Given the description of an element on the screen output the (x, y) to click on. 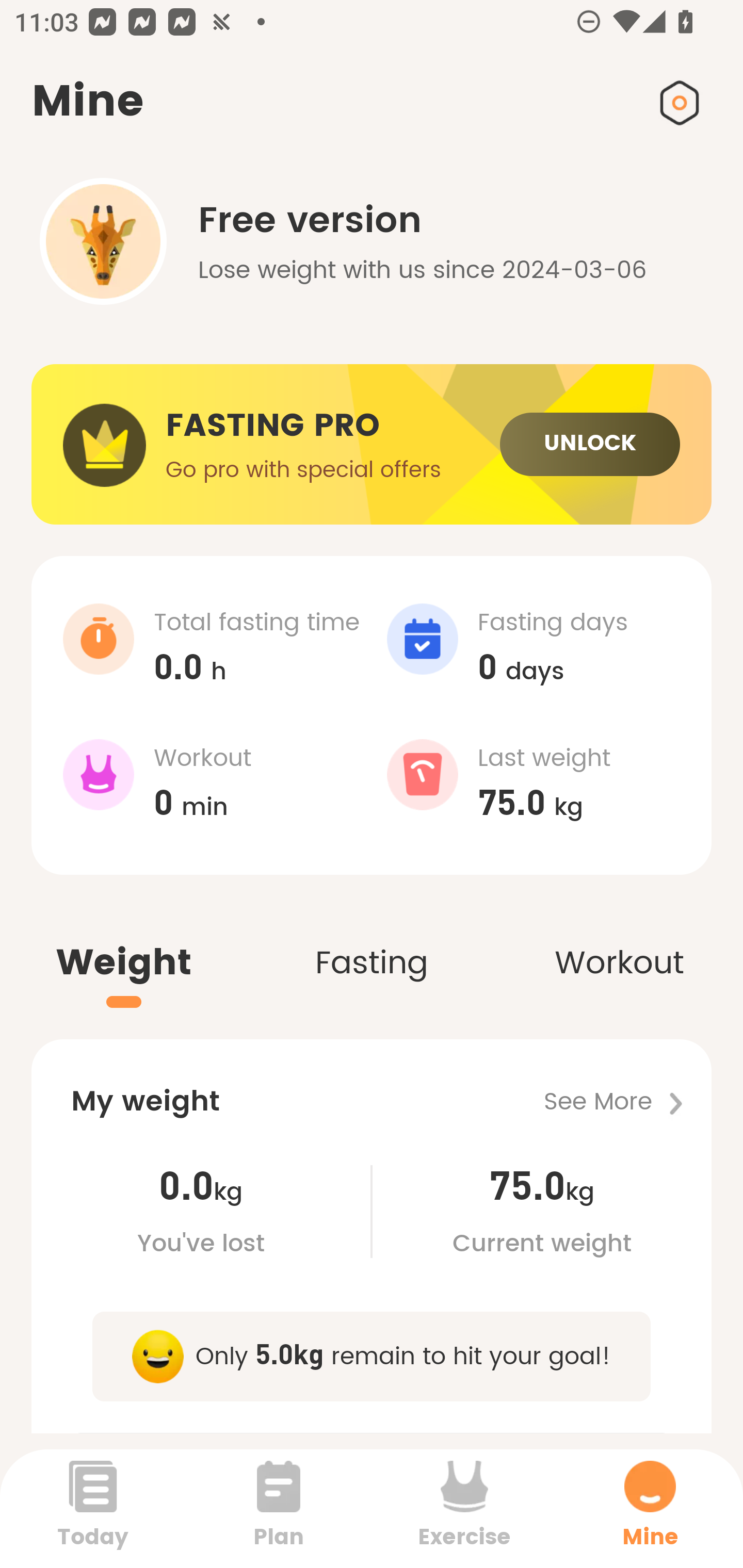
FASTING PRO Go pro with special offers UNLOCK (371, 444)
Fasting (371, 941)
Workout (619, 941)
See More (627, 1101)
Today (92, 1508)
Plan (278, 1508)
Exercise (464, 1508)
